Given the description of an element on the screen output the (x, y) to click on. 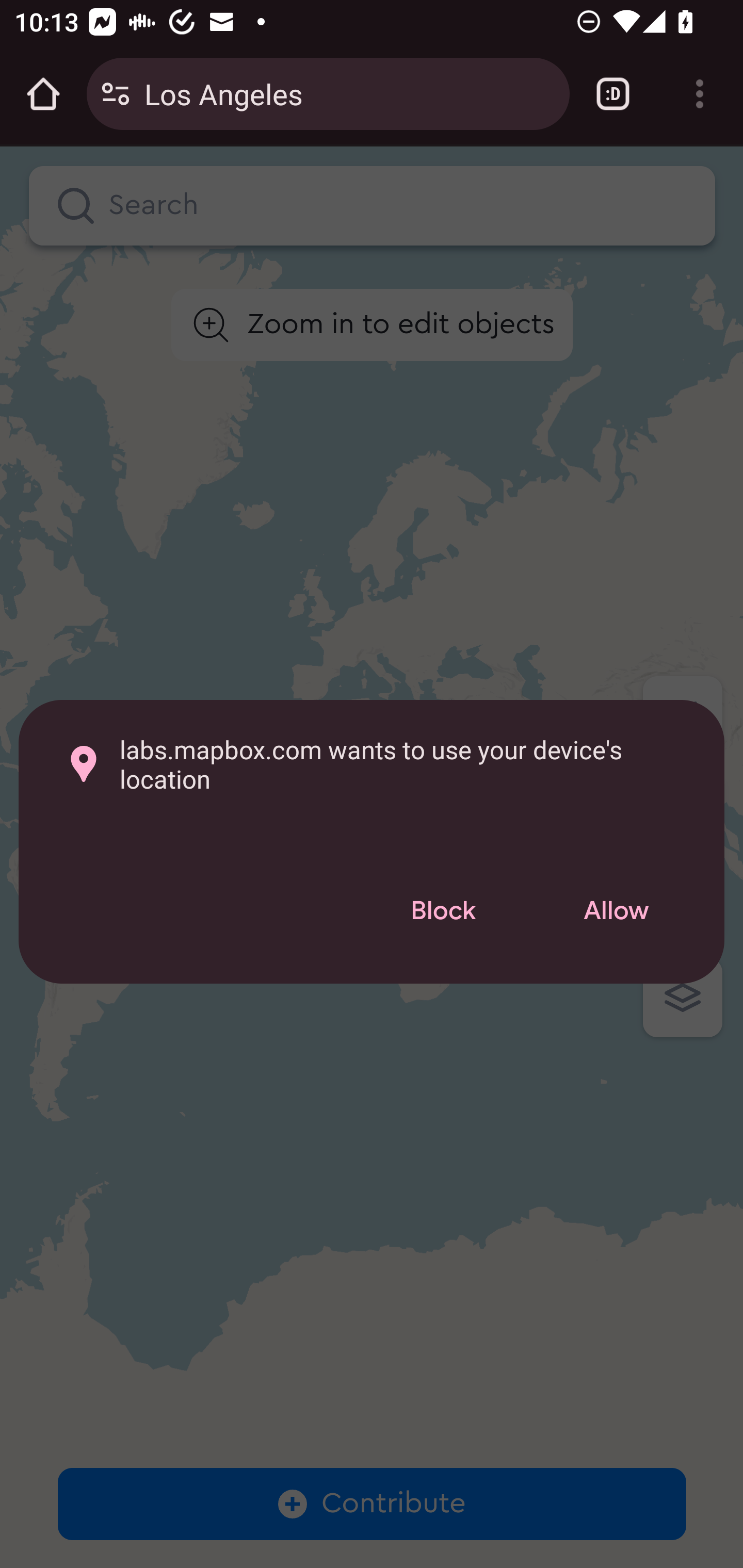
Open the home page (43, 93)
Connection is secure (115, 93)
Switch or close tabs (612, 93)
Customize and control Google Chrome (699, 93)
Los Angeles (349, 92)
Block (442, 911)
Allow (615, 911)
